Given the description of an element on the screen output the (x, y) to click on. 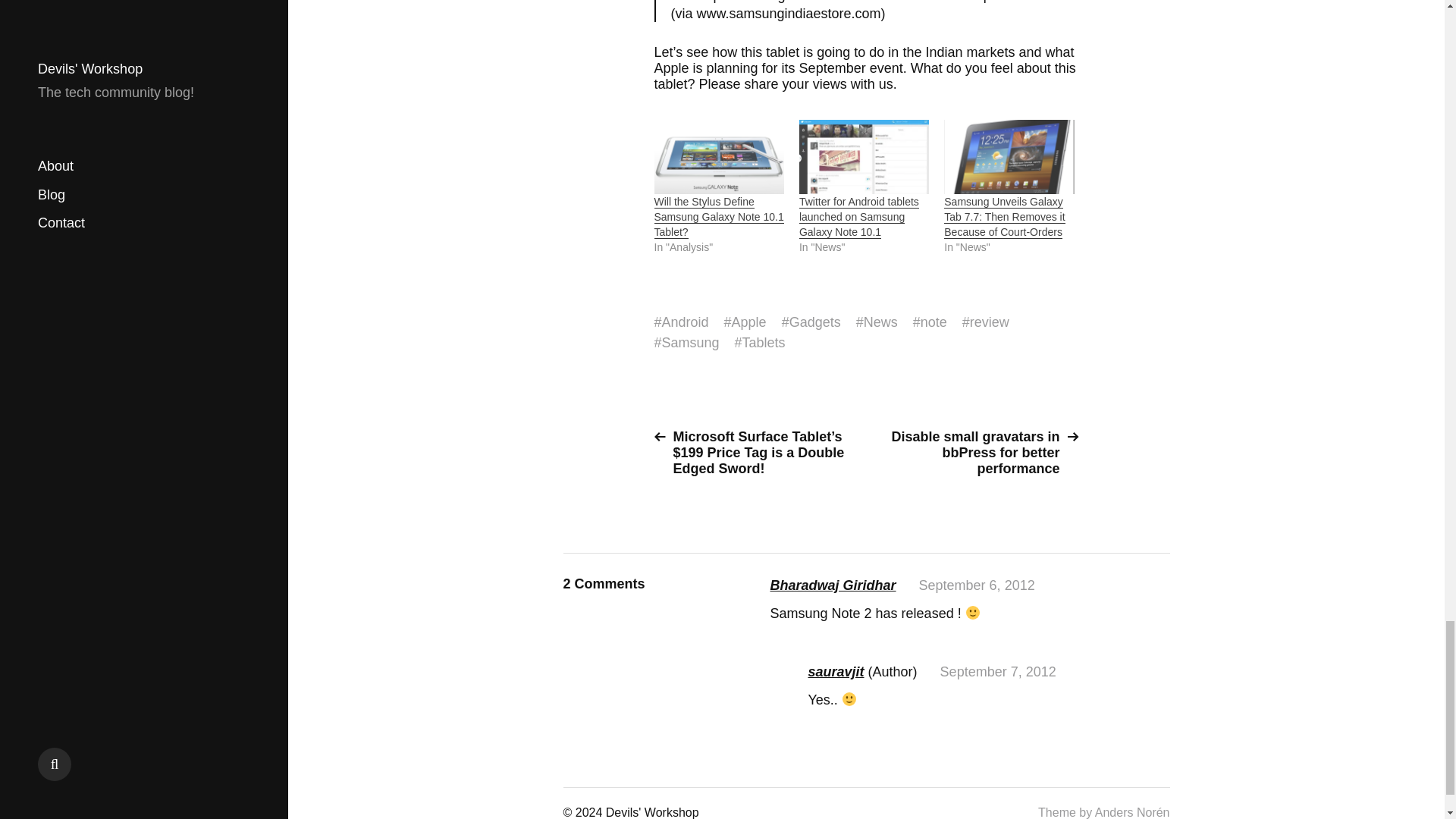
News (880, 322)
September 6, 2012 (976, 585)
September 7, 2012 (998, 671)
Will the Stylus Define Samsung Galaxy Note 10.1 Tablet? (718, 217)
Gadgets (815, 322)
note (933, 322)
review (989, 322)
